Given the description of an element on the screen output the (x, y) to click on. 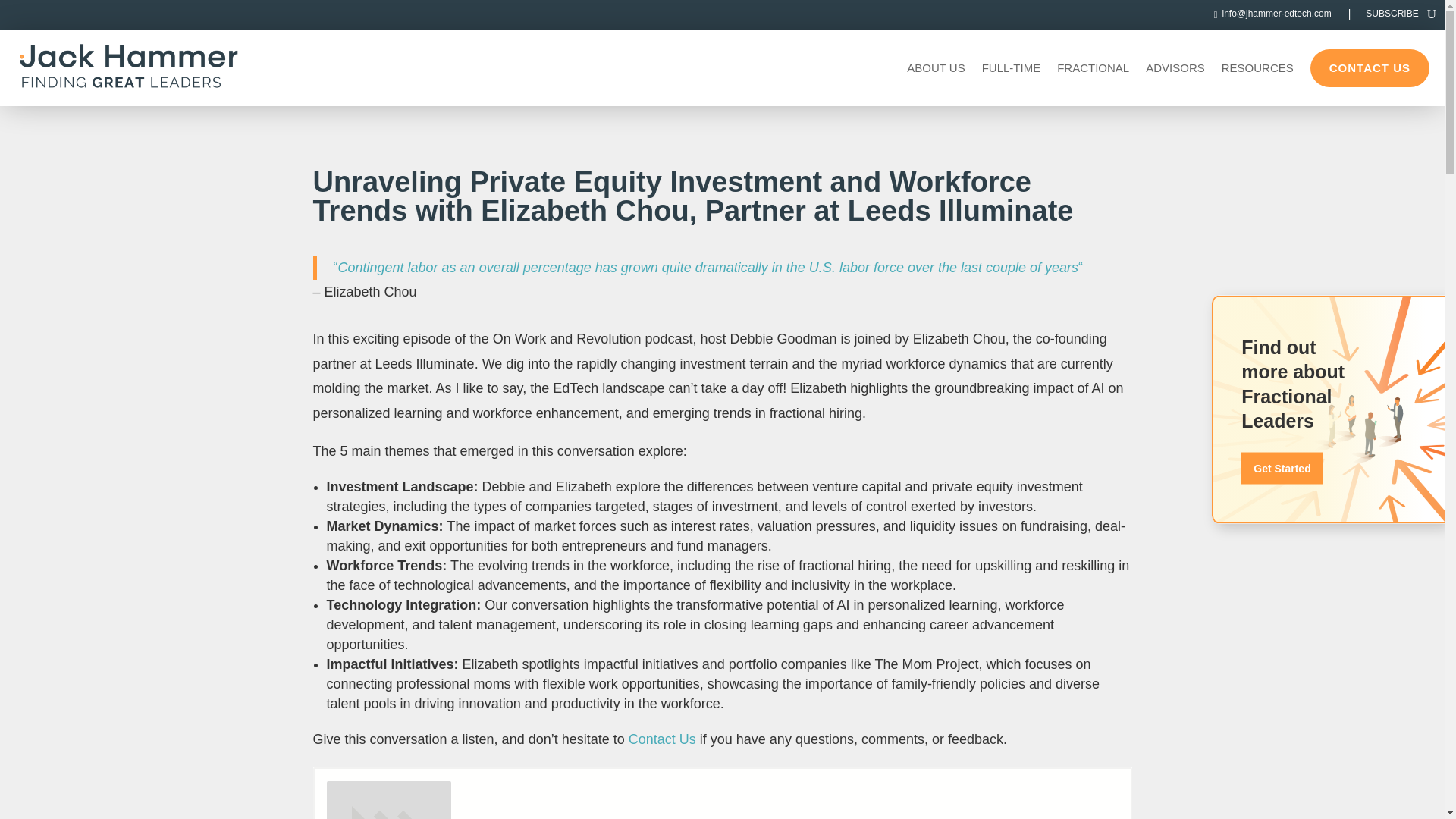
RESOURCES (1257, 68)
FRACTIONAL (1093, 68)
SUBSCRIBE (1391, 16)
Contact Us (661, 739)
CONTACT US (1369, 67)
